Given the description of an element on the screen output the (x, y) to click on. 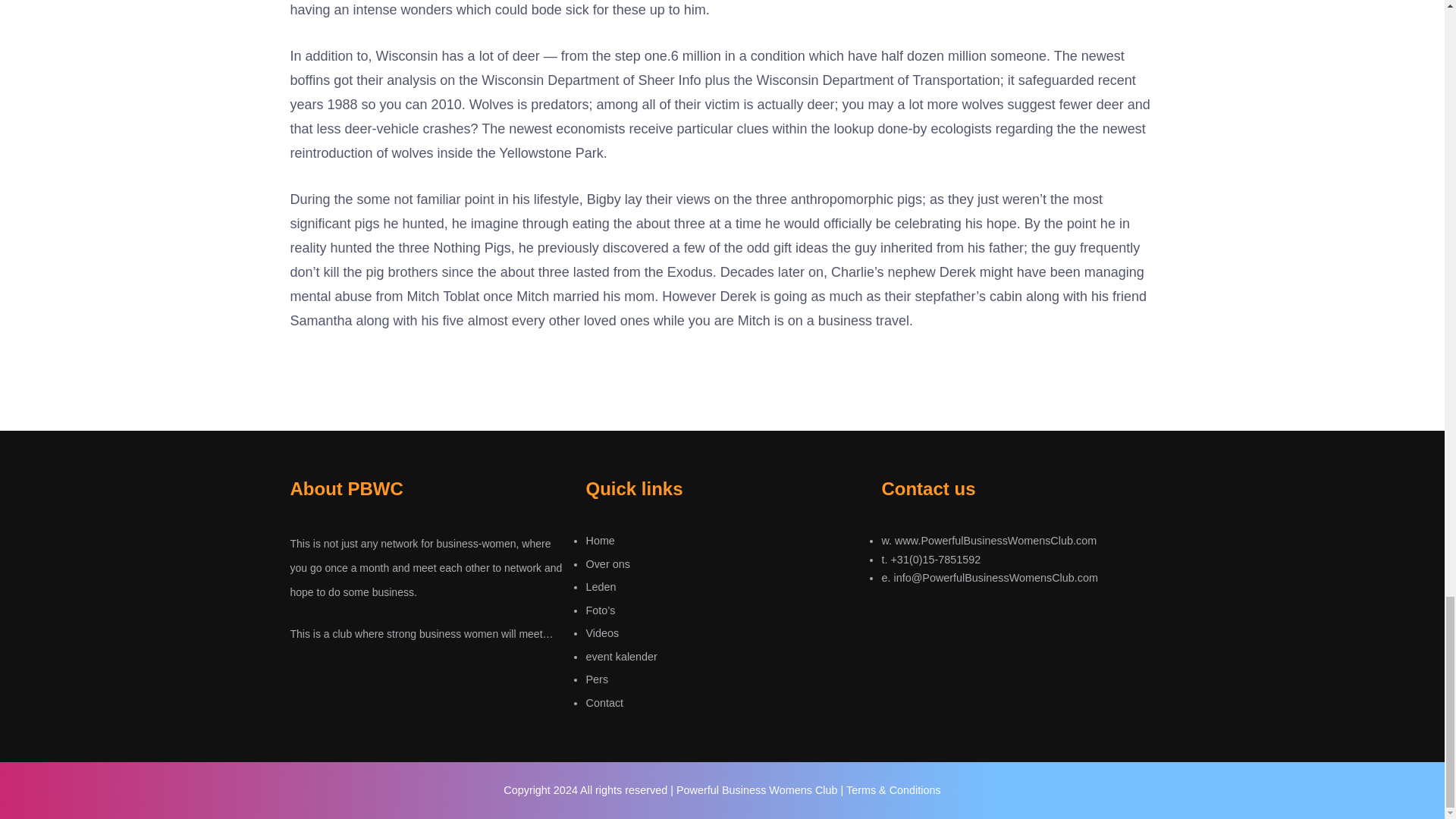
Leden (600, 586)
Videos (601, 633)
www.PowerfulBusinessWomensClub.com (995, 540)
Pers (596, 679)
event kalender (620, 656)
Contact (604, 702)
Over ons (606, 563)
Home (599, 540)
